Given the description of an element on the screen output the (x, y) to click on. 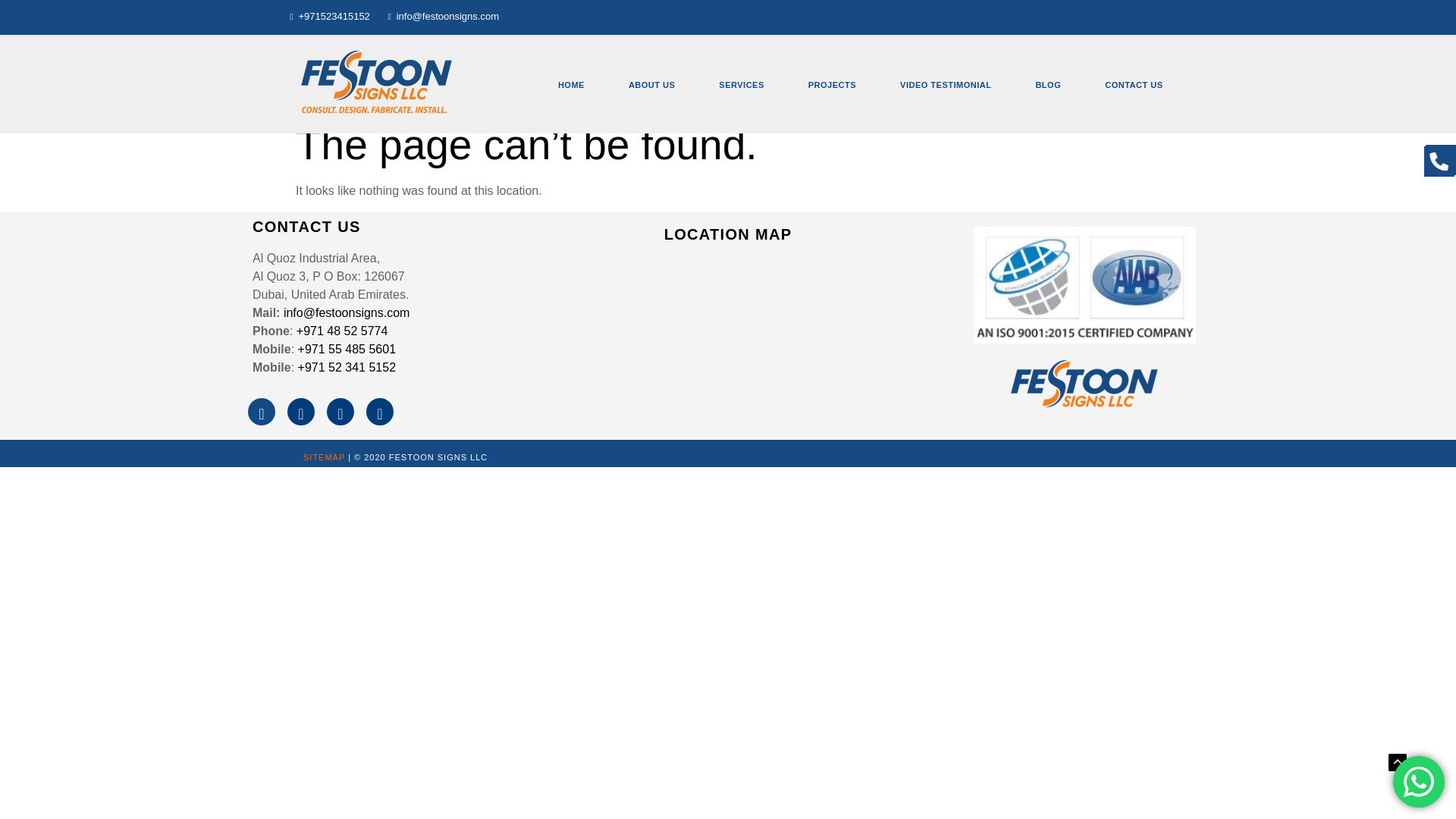
CONTACT US (1133, 84)
PROJECTS (831, 84)
VIDEO TESTIMONIAL (945, 84)
ABOUT US (651, 84)
SITEMAP (323, 456)
SERVICES (740, 84)
WhatsApp us (1418, 781)
